Given the description of an element on the screen output the (x, y) to click on. 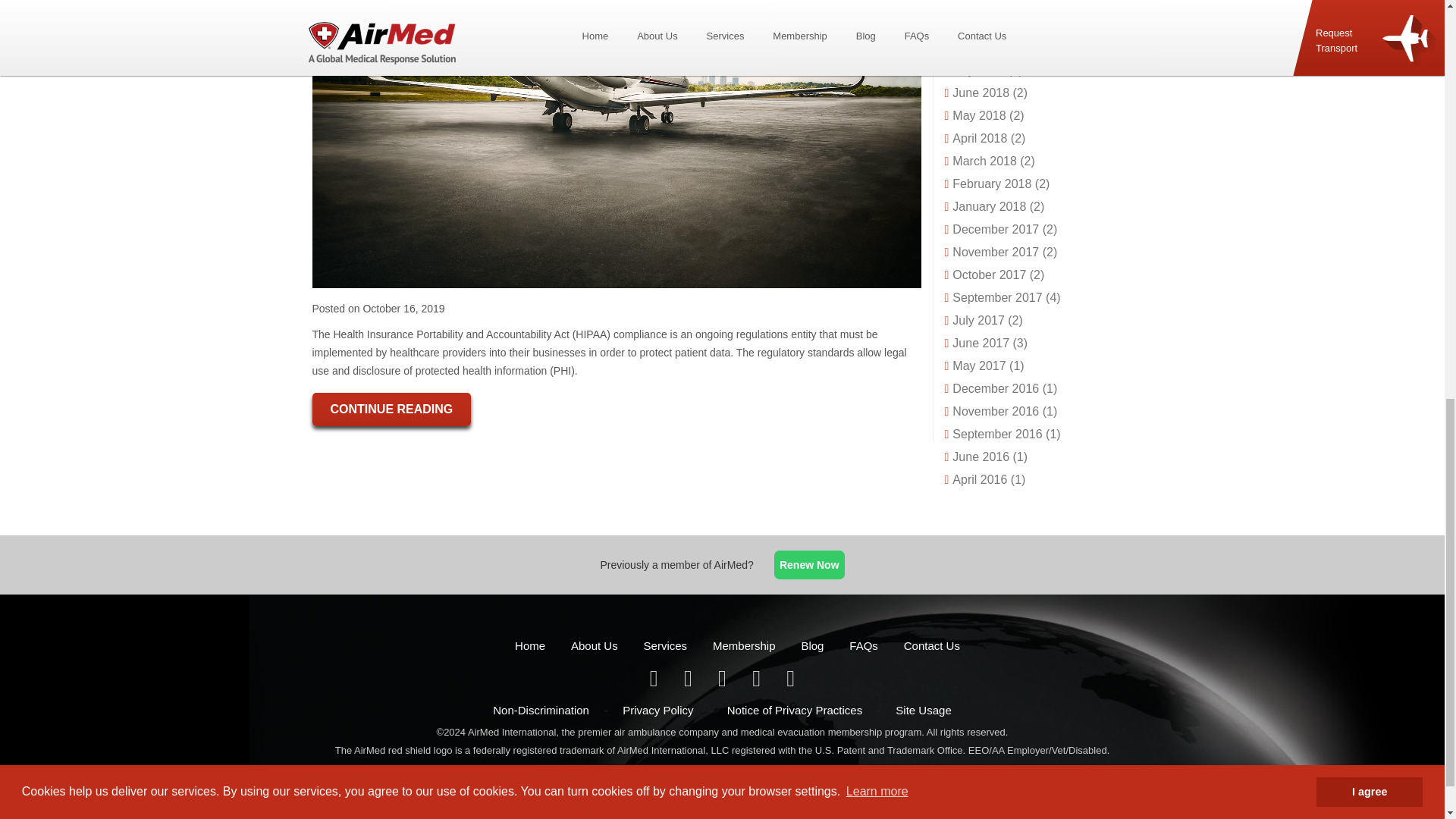
Watch our channel on YouTube (757, 681)
Like us on Facebook (655, 681)
Follow us on Twitter (689, 681)
Connect with us on LinkedIn (723, 681)
Follow us on Instagram (790, 681)
